Given the description of an element on the screen output the (x, y) to click on. 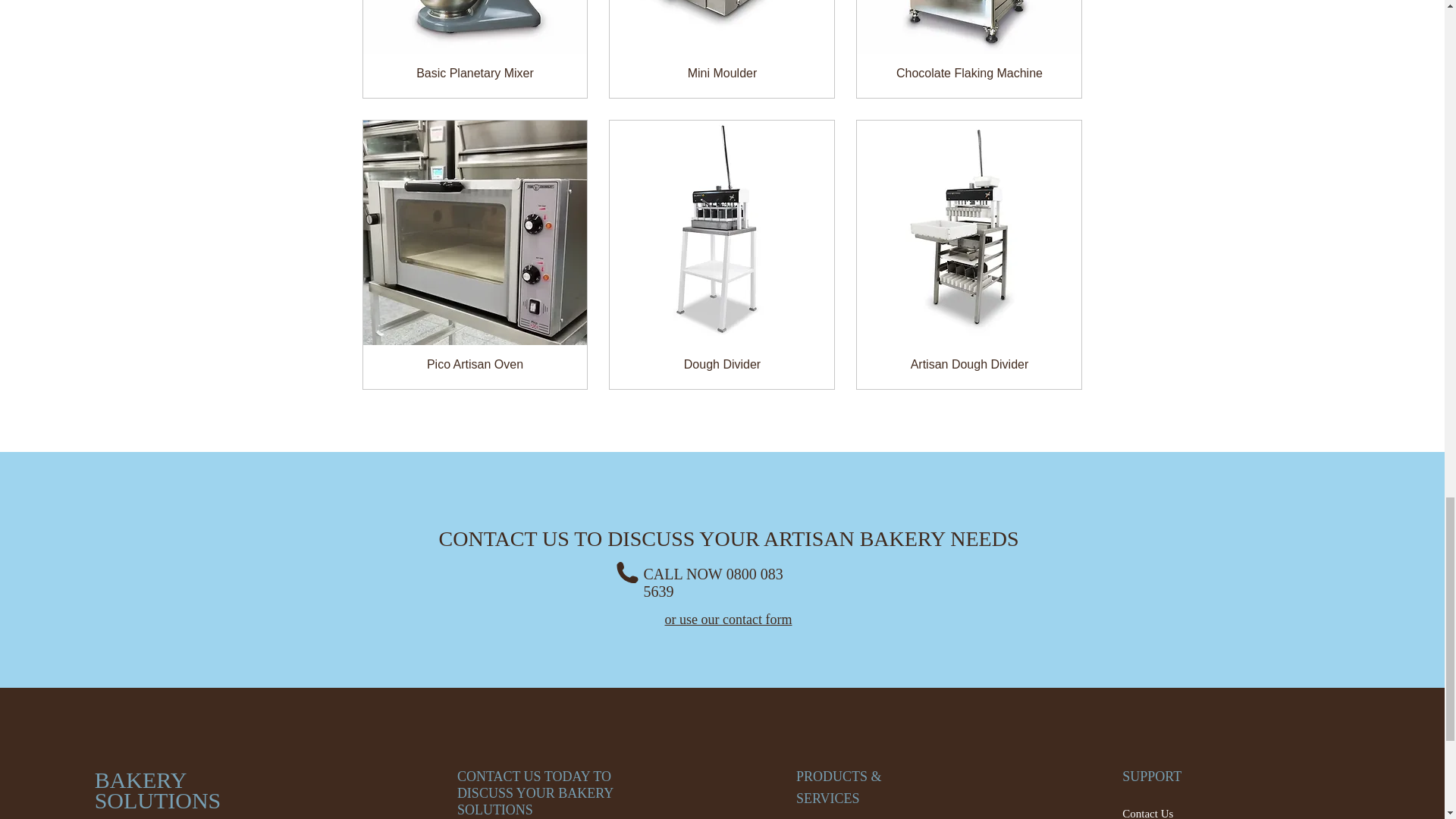
Artisan Dough Divider (968, 364)
Basic Planetary Mixer (474, 73)
Mini Moulder (721, 73)
Chocolate Flaking Machine (968, 73)
Pico Artisan Oven (474, 364)
0800 083 5639 (713, 582)
or use our contact form (728, 619)
Dough Divider (721, 364)
